Given the description of an element on the screen output the (x, y) to click on. 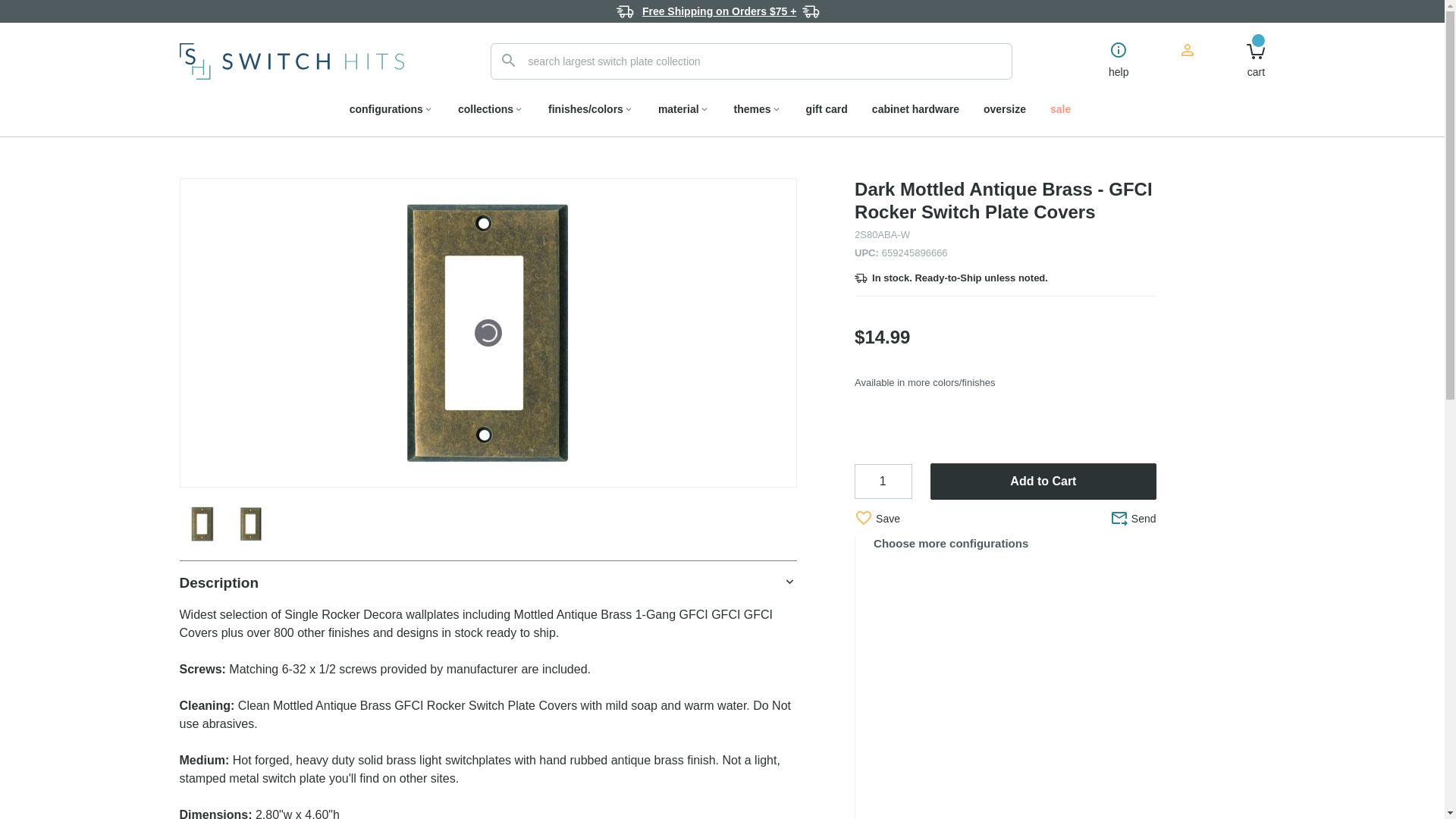
1 (883, 481)
Dark Mottled Antique Brass - GFCI Rocker Switch Plate Covers (250, 524)
Dark Mottled Antique Brass - GFCI Rocker Switch Plate Covers (201, 524)
configurations (391, 108)
Availability (1005, 278)
